Given the description of an element on the screen output the (x, y) to click on. 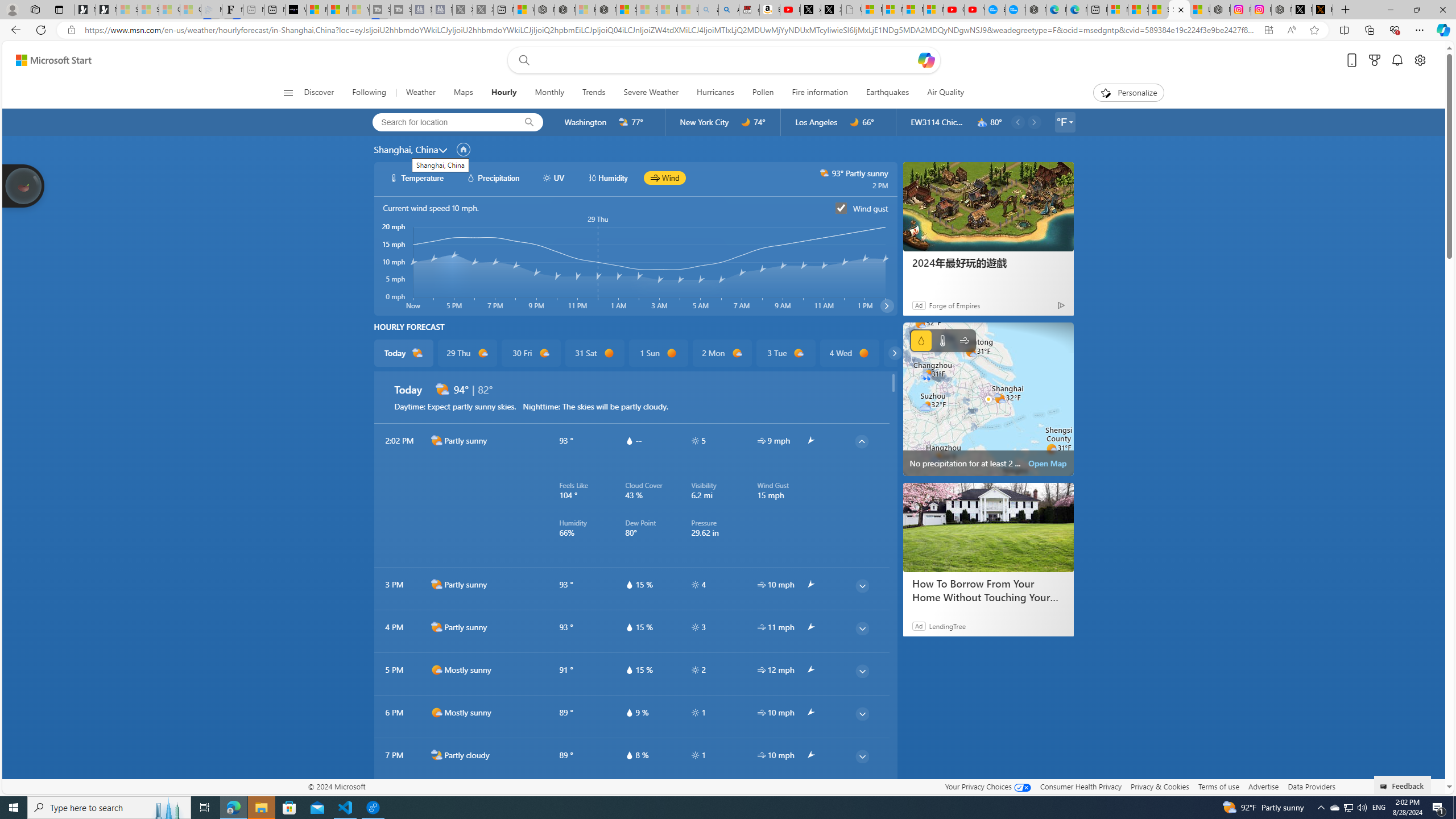
common/carouselChevron (895, 353)
Trends (593, 92)
Search for location (440, 122)
Fire information (819, 92)
Class: miniMapRadarSVGView-DS-EntryPoint1-1 (988, 398)
Wind (964, 340)
Shanghai, China (406, 149)
Severe Weather (650, 92)
How To Borrow From Your Home Without Touching Your Mortgage (988, 527)
